Given the description of an element on the screen output the (x, y) to click on. 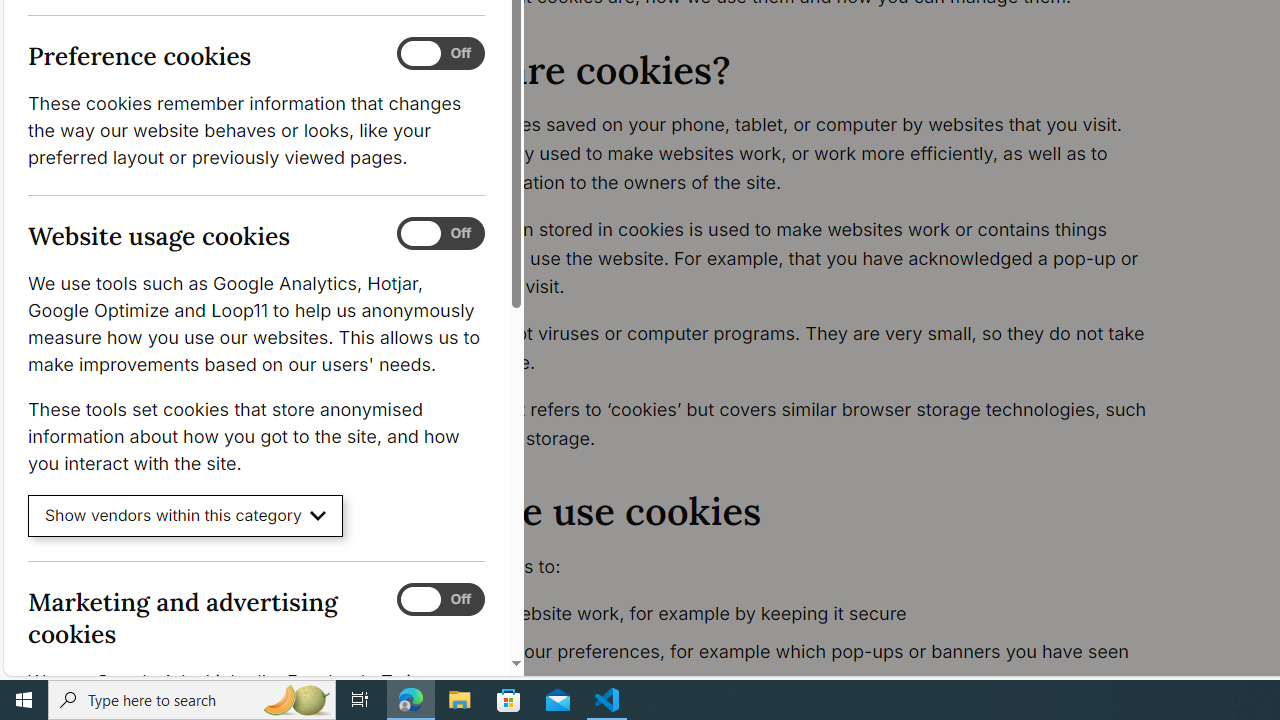
Preference cookies (440, 53)
Marketing and advertising cookies (440, 599)
Show vendors within this category (185, 516)
make our website work, for example by keeping it secure (796, 614)
Website usage cookies (440, 233)
